Given the description of an element on the screen output the (x, y) to click on. 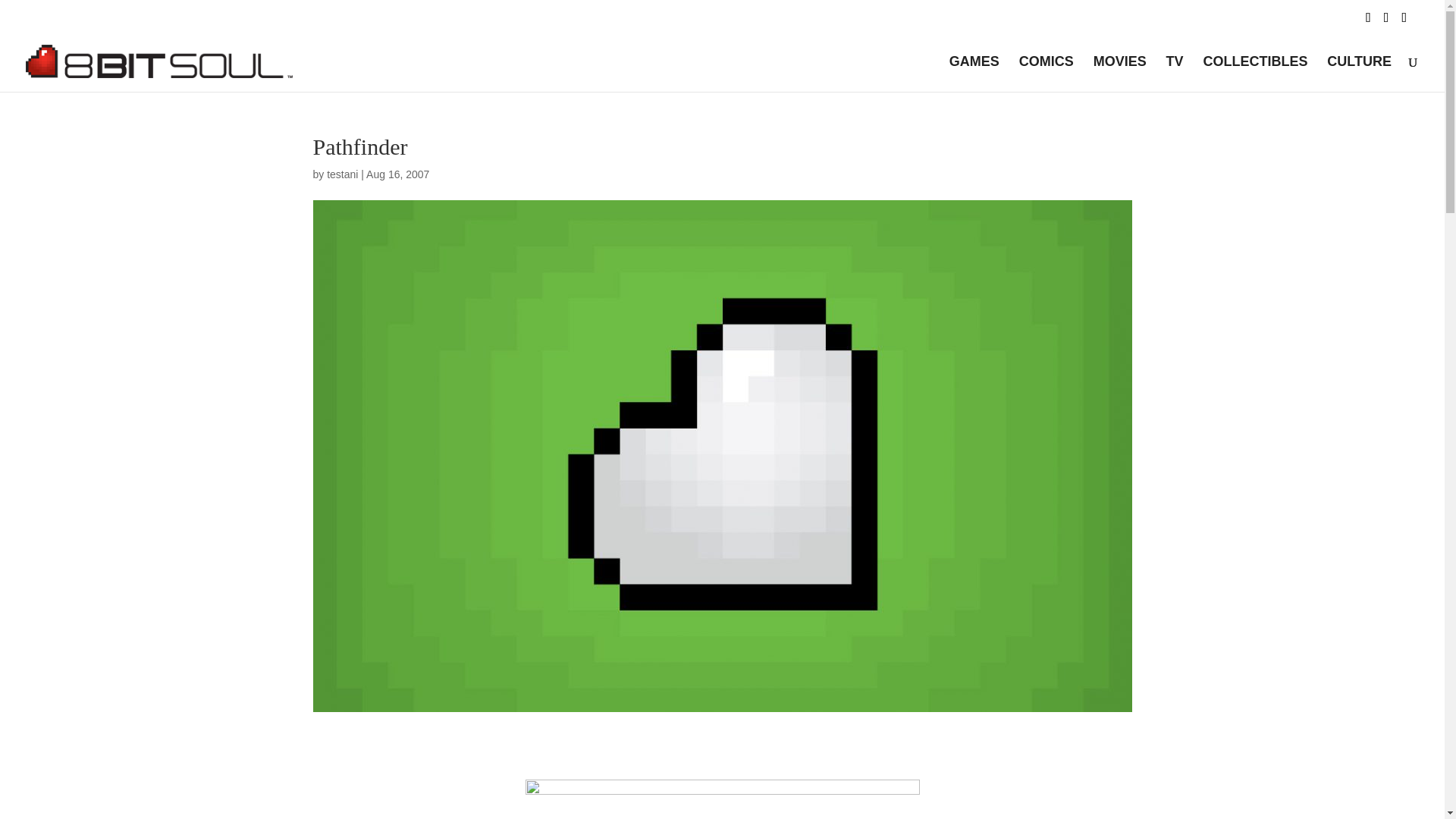
COLLECTIBLES (1254, 73)
CULTURE (1358, 73)
COMICS (1046, 73)
MOVIES (1120, 73)
GAMES (973, 73)
testani (342, 174)
Posts by testani (342, 174)
